Given the description of an element on the screen output the (x, y) to click on. 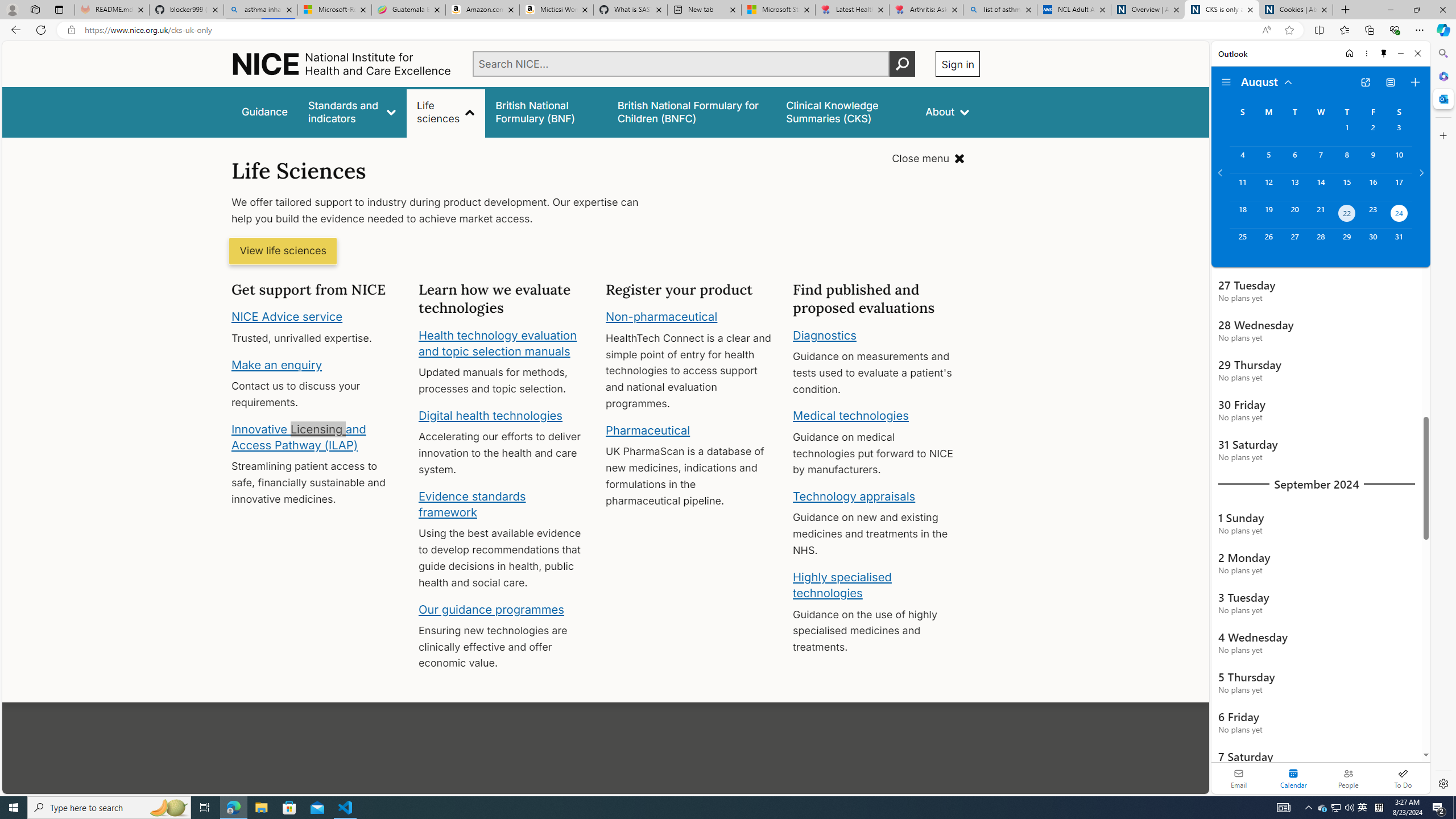
Pharmaceutical (647, 429)
Folder navigation (1225, 82)
Tuesday, August 20, 2024.  (1294, 214)
Innovative Licensing and Access Pathway (ILAP) (298, 436)
Evidence standards framework (471, 503)
Sunday, August 11, 2024.  (1242, 186)
Sunday, August 25, 2024.  (1242, 241)
